Given the description of an element on the screen output the (x, y) to click on. 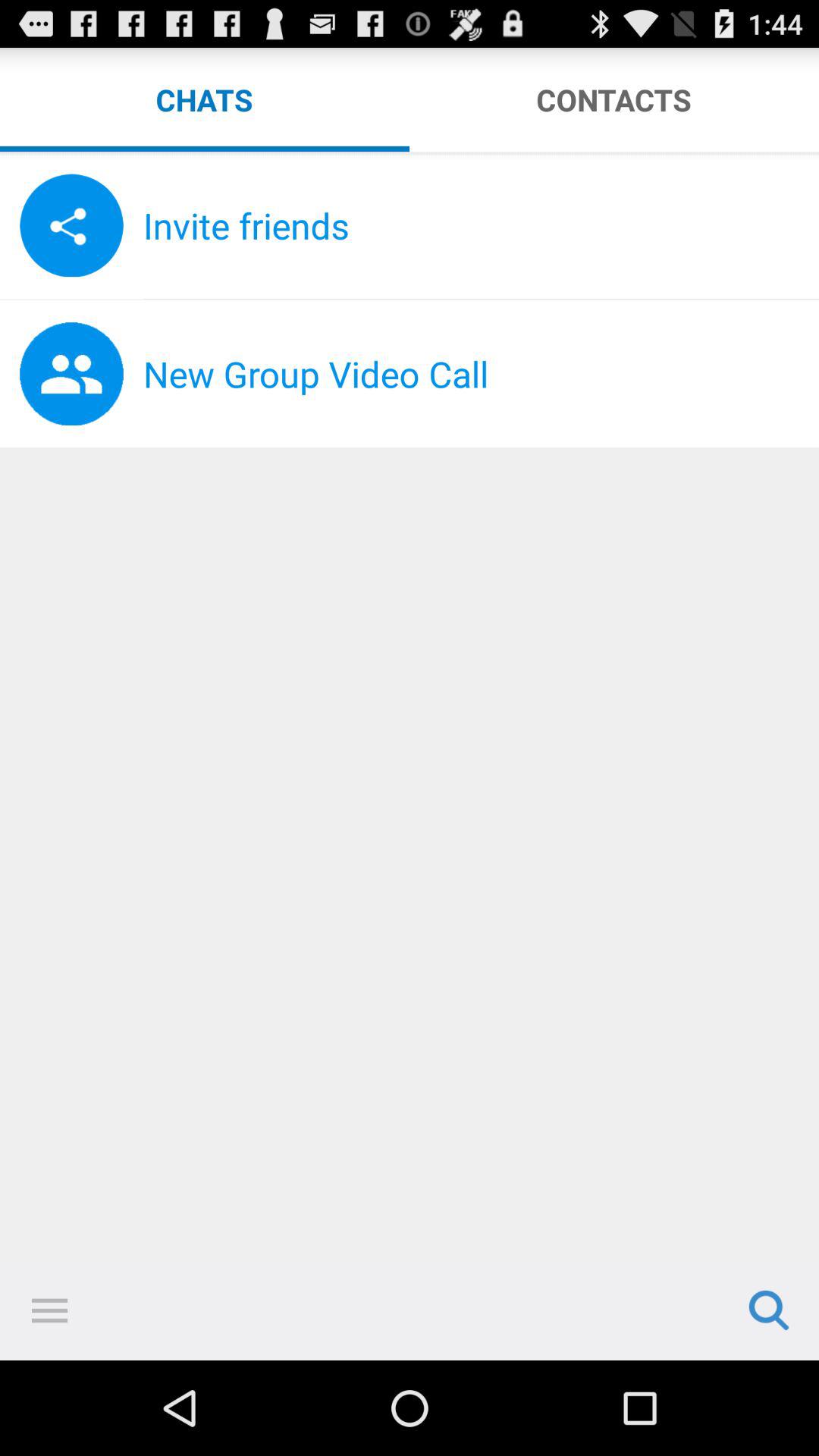
scroll to invite friends icon (481, 225)
